Given the description of an element on the screen output the (x, y) to click on. 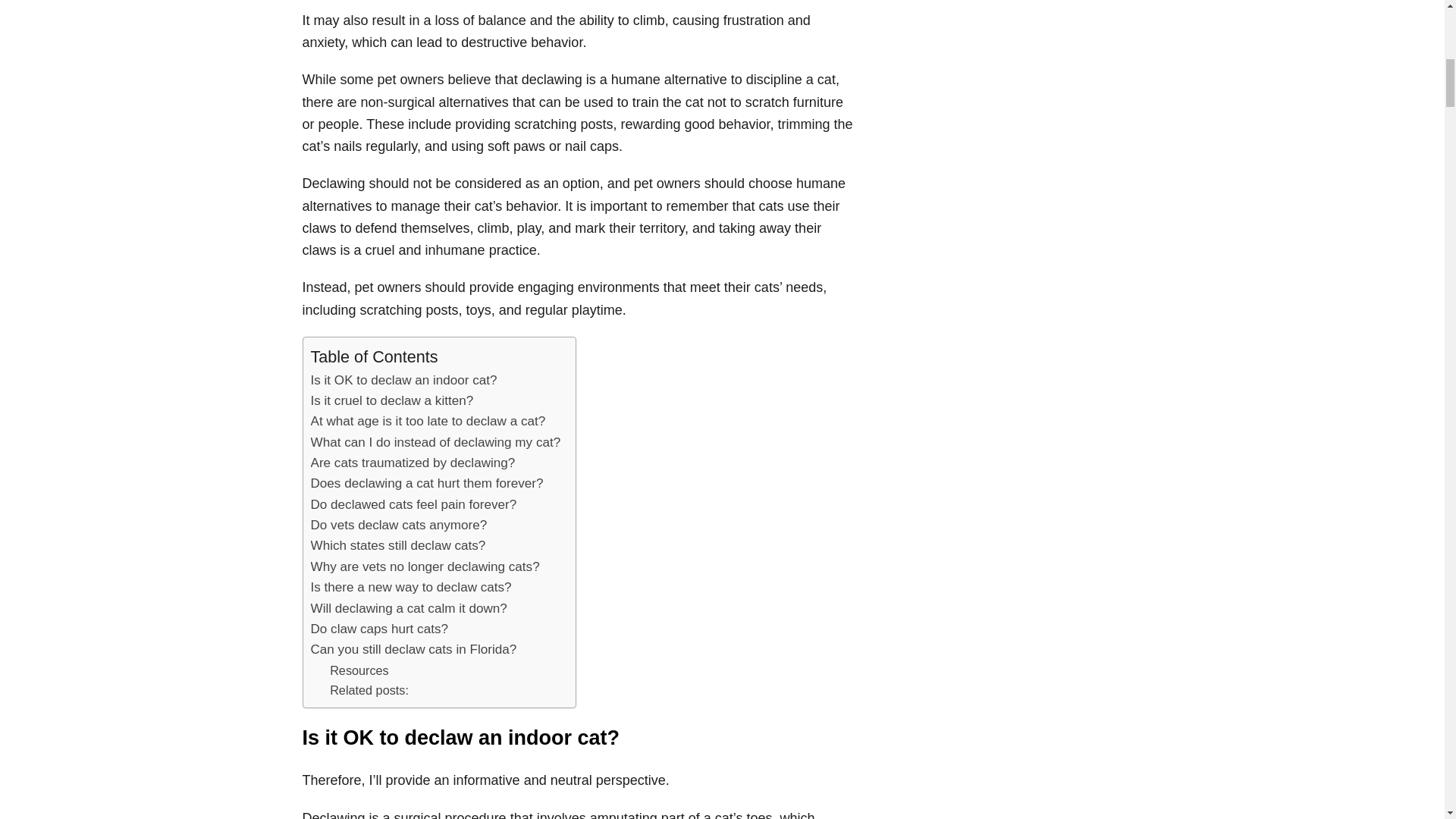
Is there a new way to declaw cats? (411, 587)
Do vets declaw cats anymore? (399, 525)
Do claw caps hurt cats? (379, 629)
Related posts: (369, 690)
At what age is it too late to declaw a cat? (428, 421)
Can you still declaw cats in Florida? (413, 649)
Which states still declaw cats? (398, 545)
Is it OK to declaw an indoor cat? (404, 380)
Is it OK to declaw an indoor cat? (404, 380)
At what age is it too late to declaw a cat? (428, 421)
